Given the description of an element on the screen output the (x, y) to click on. 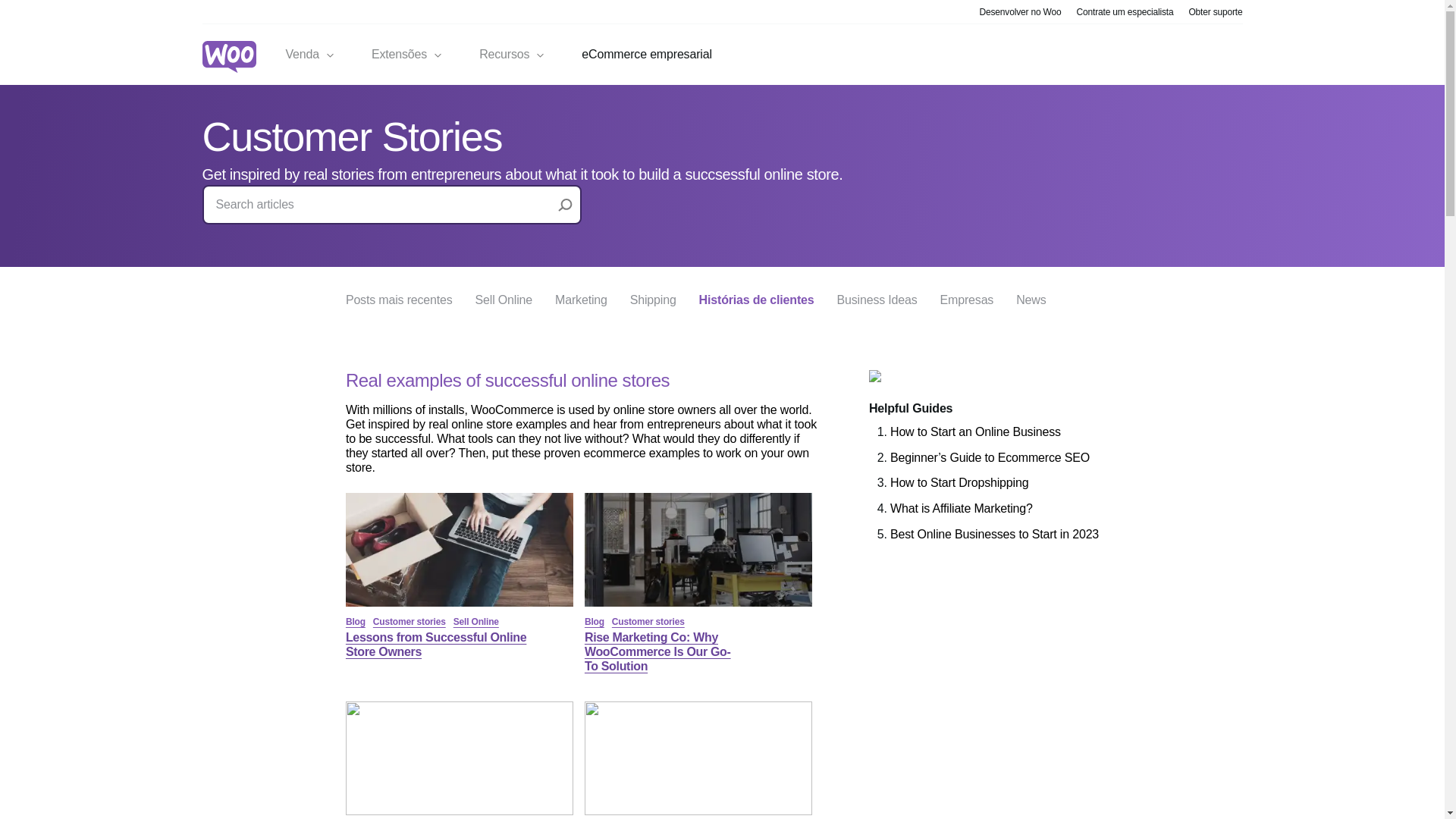
Lessons from Successful Online Store Owners (459, 602)
eCommerce empresarial (646, 54)
Customer Stories (352, 135)
Desenvolver no Woo (1020, 11)
Venda (309, 54)
Empresas (967, 299)
Business Ideas (877, 299)
Blog (594, 621)
Contrate um especialista (1125, 11)
Blog (355, 621)
